Given the description of an element on the screen output the (x, y) to click on. 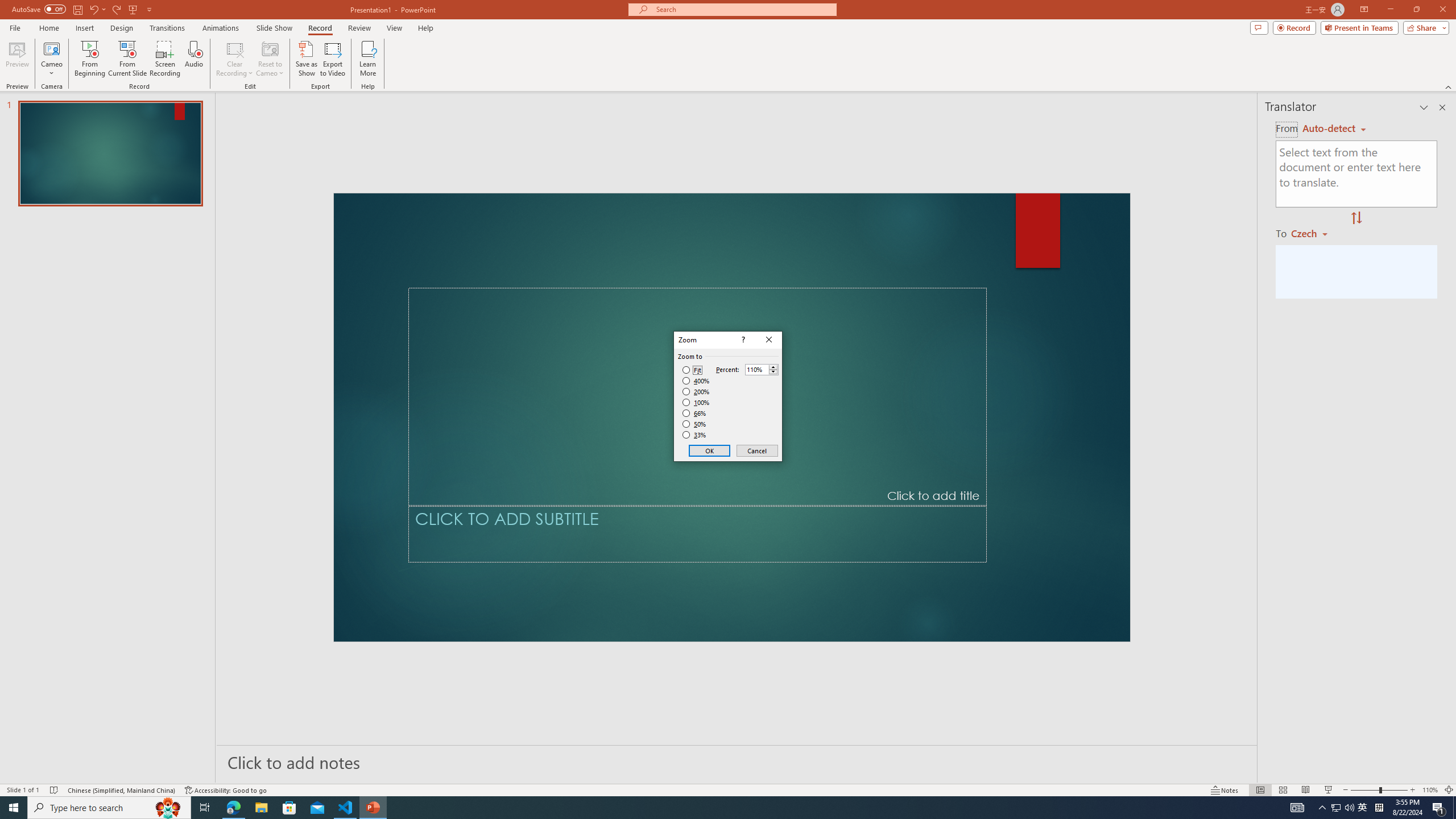
From Current Slide... (127, 58)
OK (709, 450)
Clear Recording (234, 58)
Reset to Cameo (269, 58)
33% (694, 434)
